Given the description of an element on the screen output the (x, y) to click on. 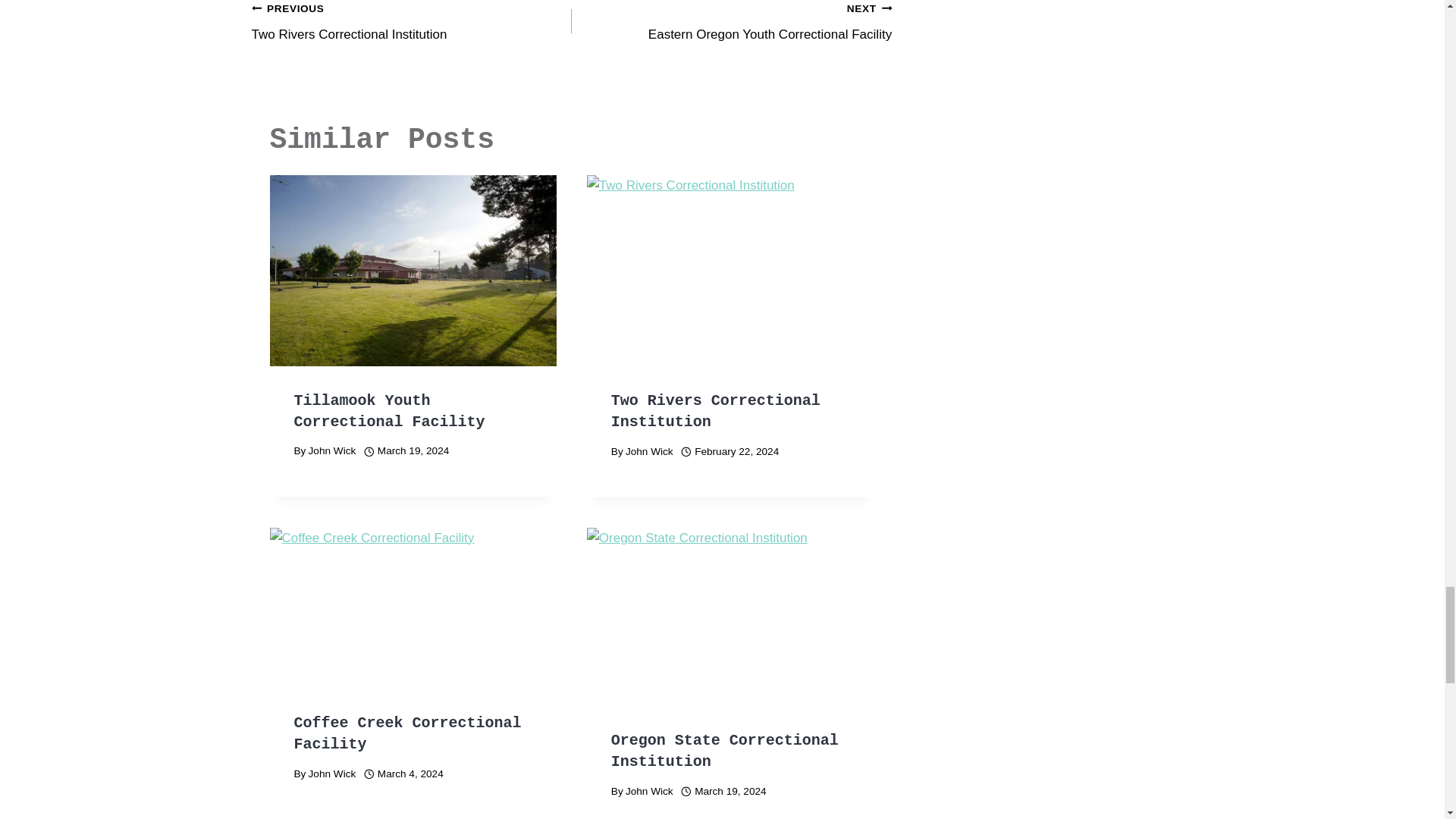
Two Rivers Correctional Institution 3 (731, 22)
Tillamook Youth Correctional Facility 2 (729, 270)
Coffee Creek Correctional Facility 4 (412, 270)
